Given the description of an element on the screen output the (x, y) to click on. 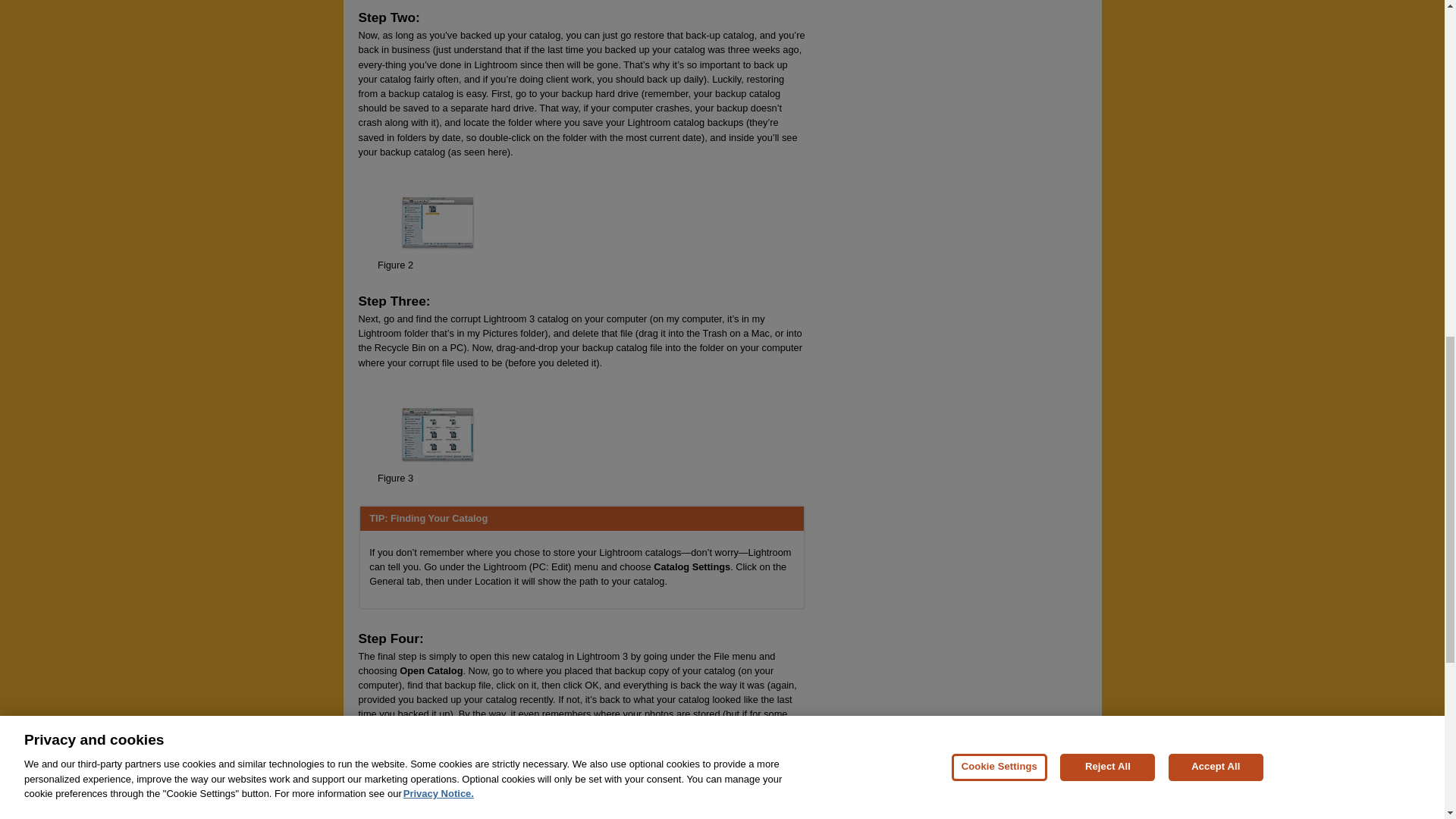
Figure 2 (395, 265)
Figure 3 (395, 478)
